Given the description of an element on the screen output the (x, y) to click on. 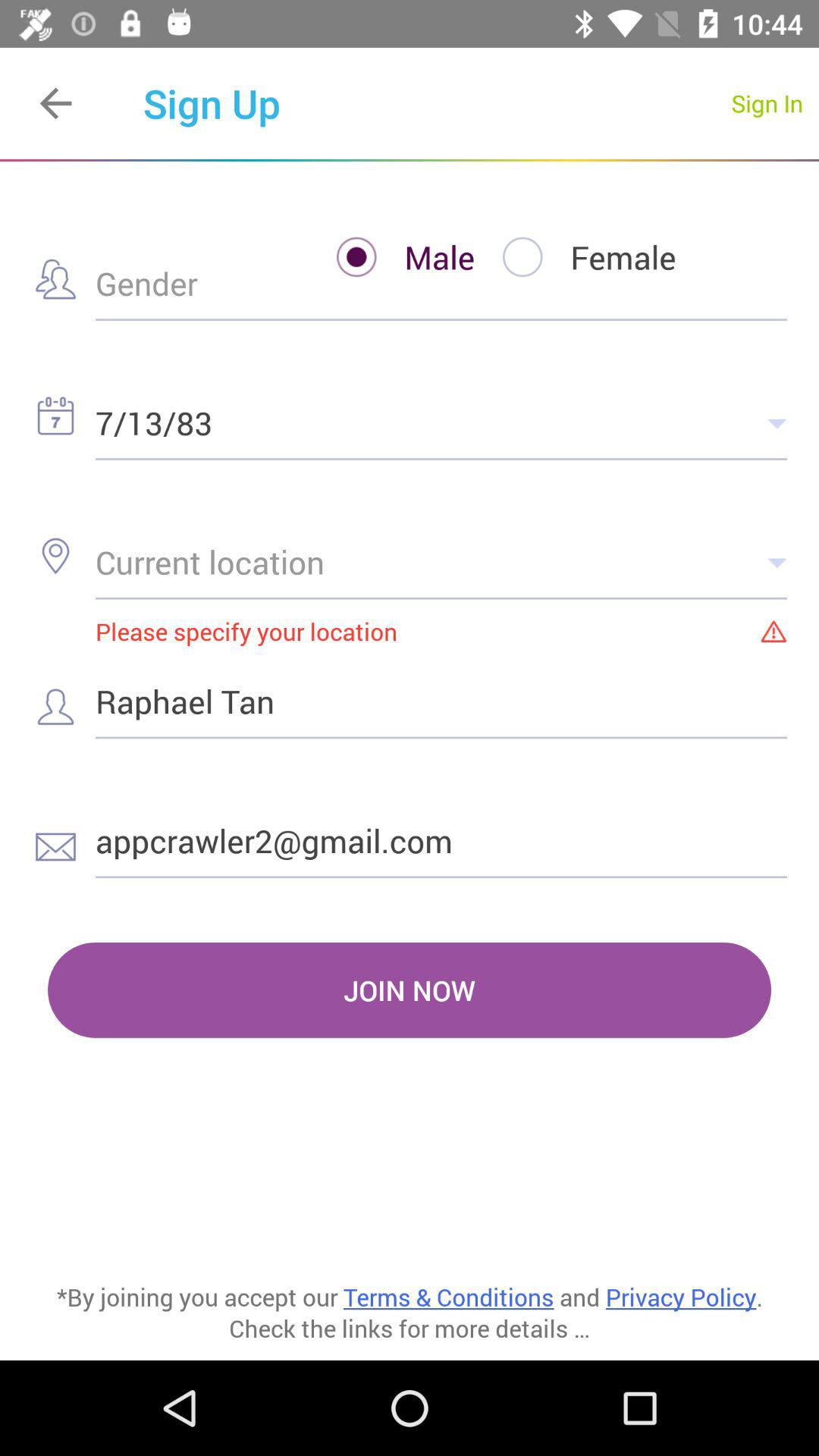
turn on the join now item (409, 989)
